Given the description of an element on the screen output the (x, y) to click on. 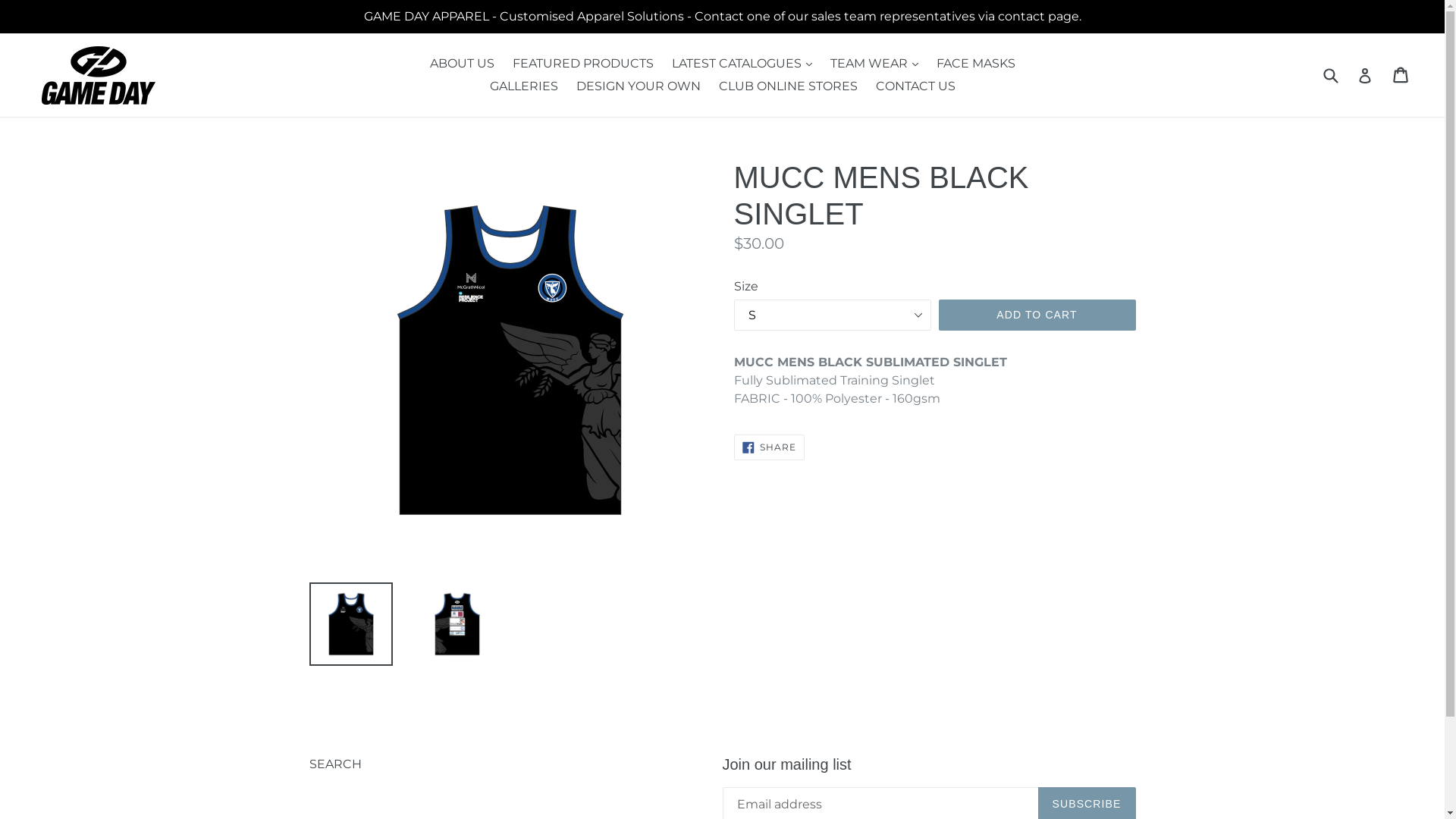
FACE MASKS Element type: text (975, 63)
DESIGN YOUR OWN Element type: text (638, 86)
Log in Element type: text (1364, 74)
ABOUT US Element type: text (461, 63)
GALLERIES Element type: text (523, 86)
ADD TO CART Element type: text (1036, 315)
Cart
Cart Element type: text (1401, 74)
Submit Element type: text (1329, 74)
FEATURED PRODUCTS Element type: text (583, 63)
SHARE
SHARE ON FACEBOOK Element type: text (769, 447)
CONTACT US Element type: text (914, 86)
CLUB ONLINE STORES Element type: text (788, 86)
SEARCH Element type: text (335, 763)
